Given the description of an element on the screen output the (x, y) to click on. 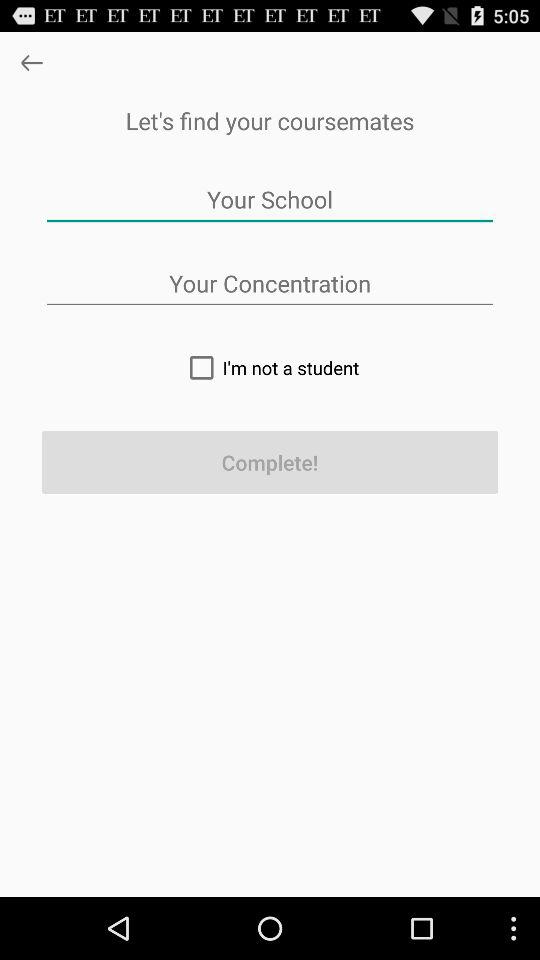
type in college major (270, 283)
